Given the description of an element on the screen output the (x, y) to click on. 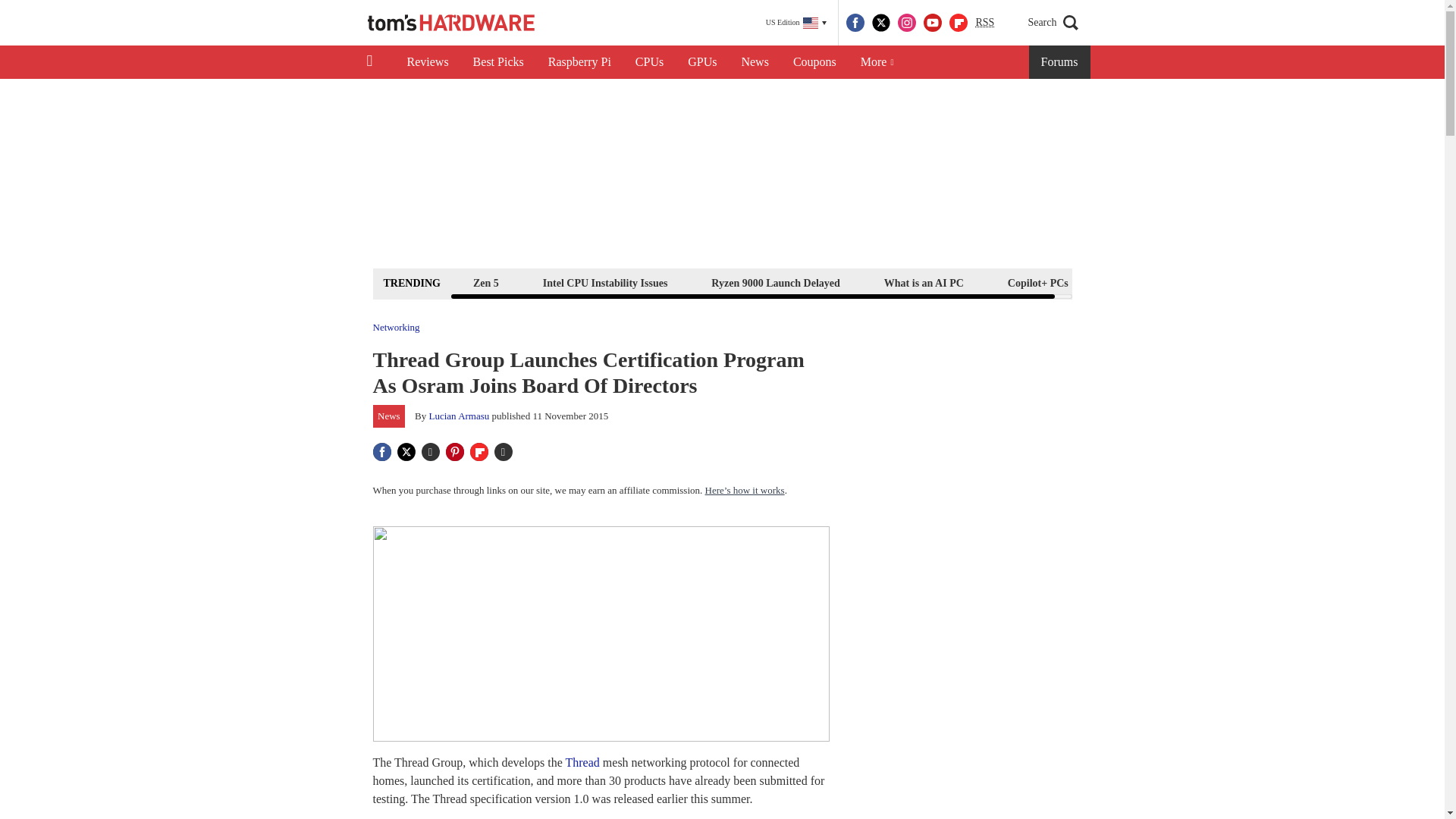
Zen 5 (485, 282)
US Edition (796, 22)
RSS (984, 22)
Forums (1059, 61)
Raspberry Pi (579, 61)
Really Simple Syndication (984, 21)
CPUs (649, 61)
GPUs (702, 61)
Coupons (814, 61)
News (754, 61)
Reviews (427, 61)
Best Picks (498, 61)
